Given the description of an element on the screen output the (x, y) to click on. 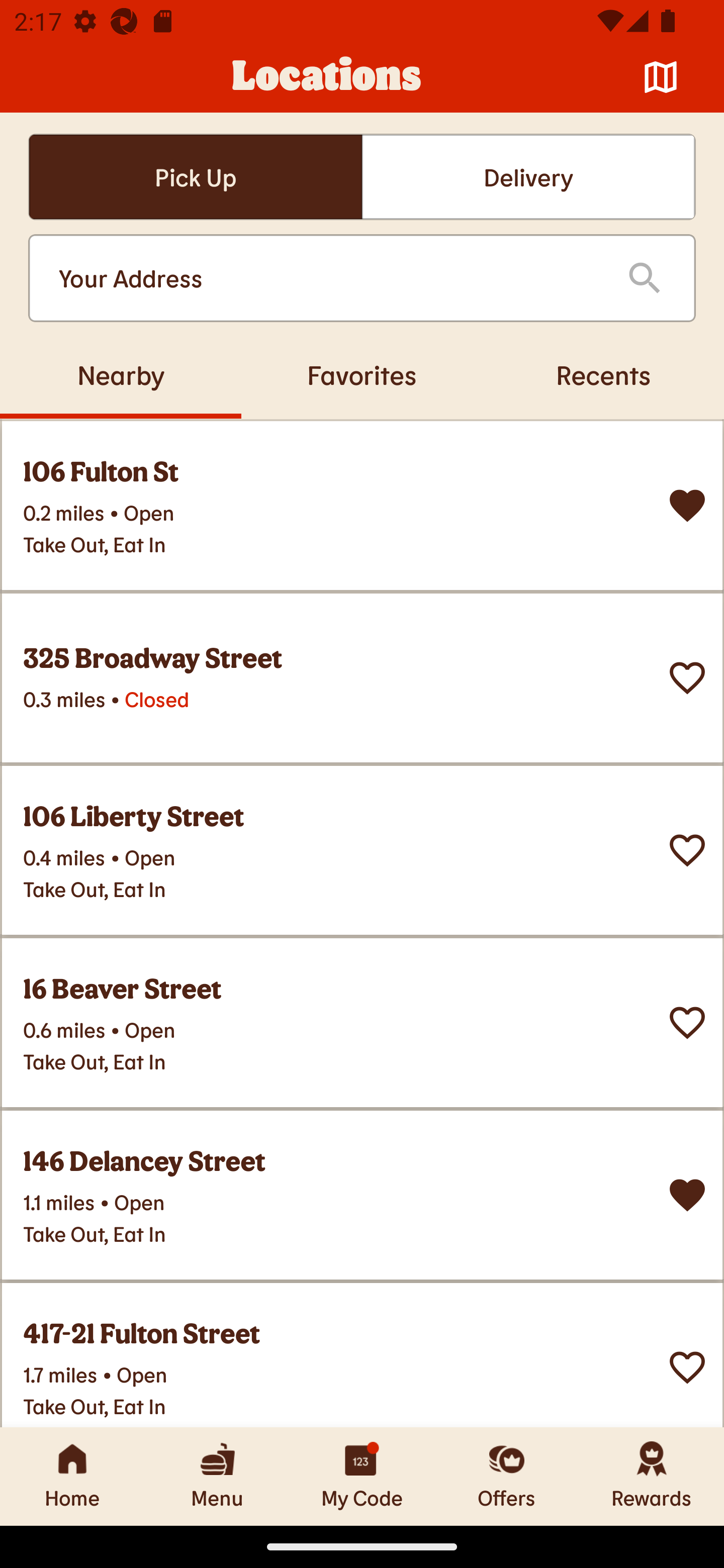
Map 󰦂 (660, 77)
Locations (326, 77)
Pick UpSelected Pick UpSelected Pick Up (195, 176)
Delivery Delivery Delivery (528, 176)
Your Address (327, 277)
Nearby (120, 374)
Favorites (361, 374)
Recents (603, 374)
Remove from Favorites?  (687, 505)
Set this restaurant as a favorite  (687, 677)
Set this restaurant as a favorite  (687, 850)
Set this restaurant as a favorite  (687, 1022)
Remove from Favorites?  (687, 1195)
Set this restaurant as a favorite  (687, 1367)
Home (72, 1475)
Menu (216, 1475)
My Code (361, 1475)
Offers (506, 1475)
Rewards (651, 1475)
